Given the description of an element on the screen output the (x, y) to click on. 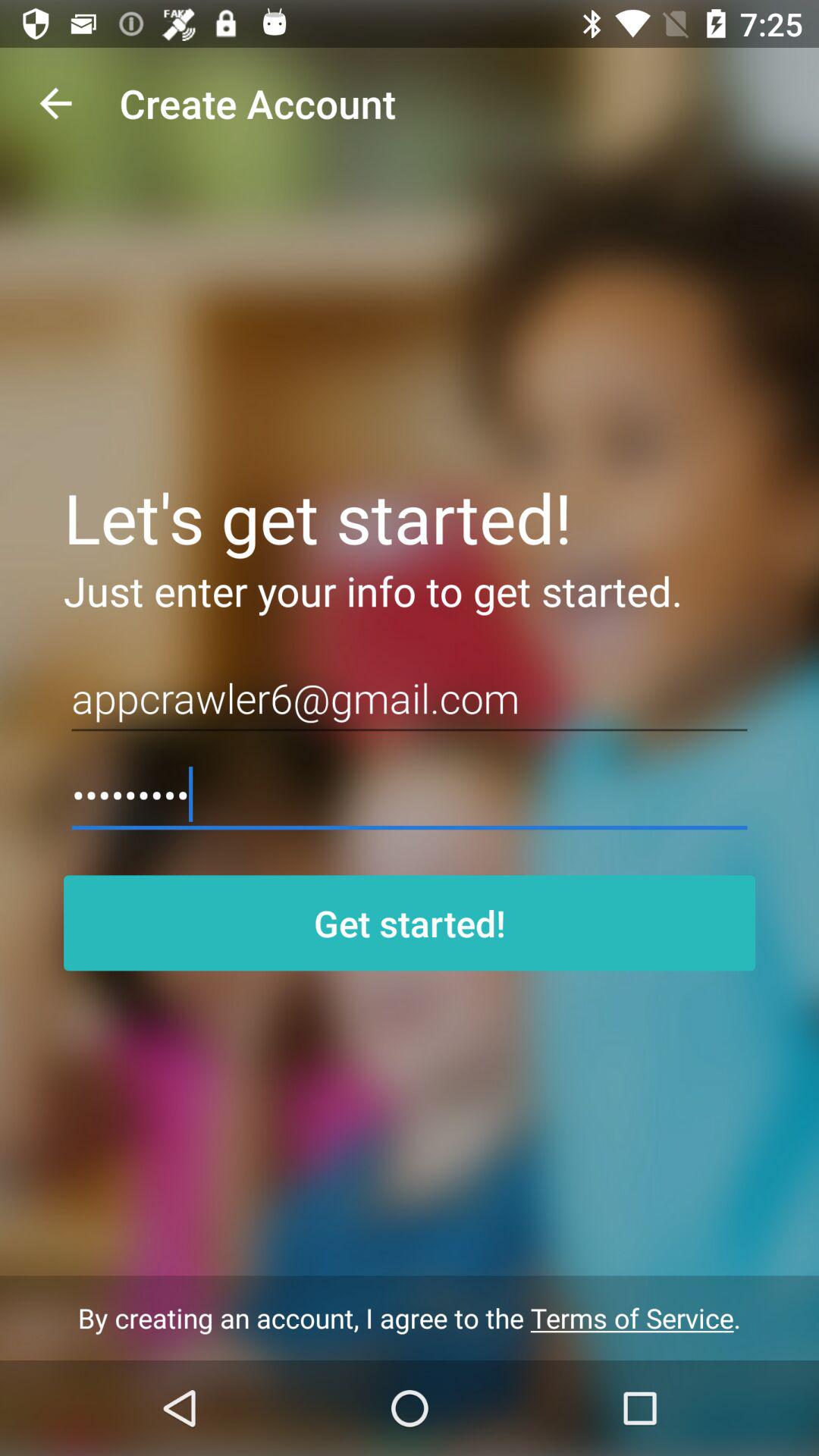
choose item below the appcrawler6@gmail.com icon (409, 794)
